Given the description of an element on the screen output the (x, y) to click on. 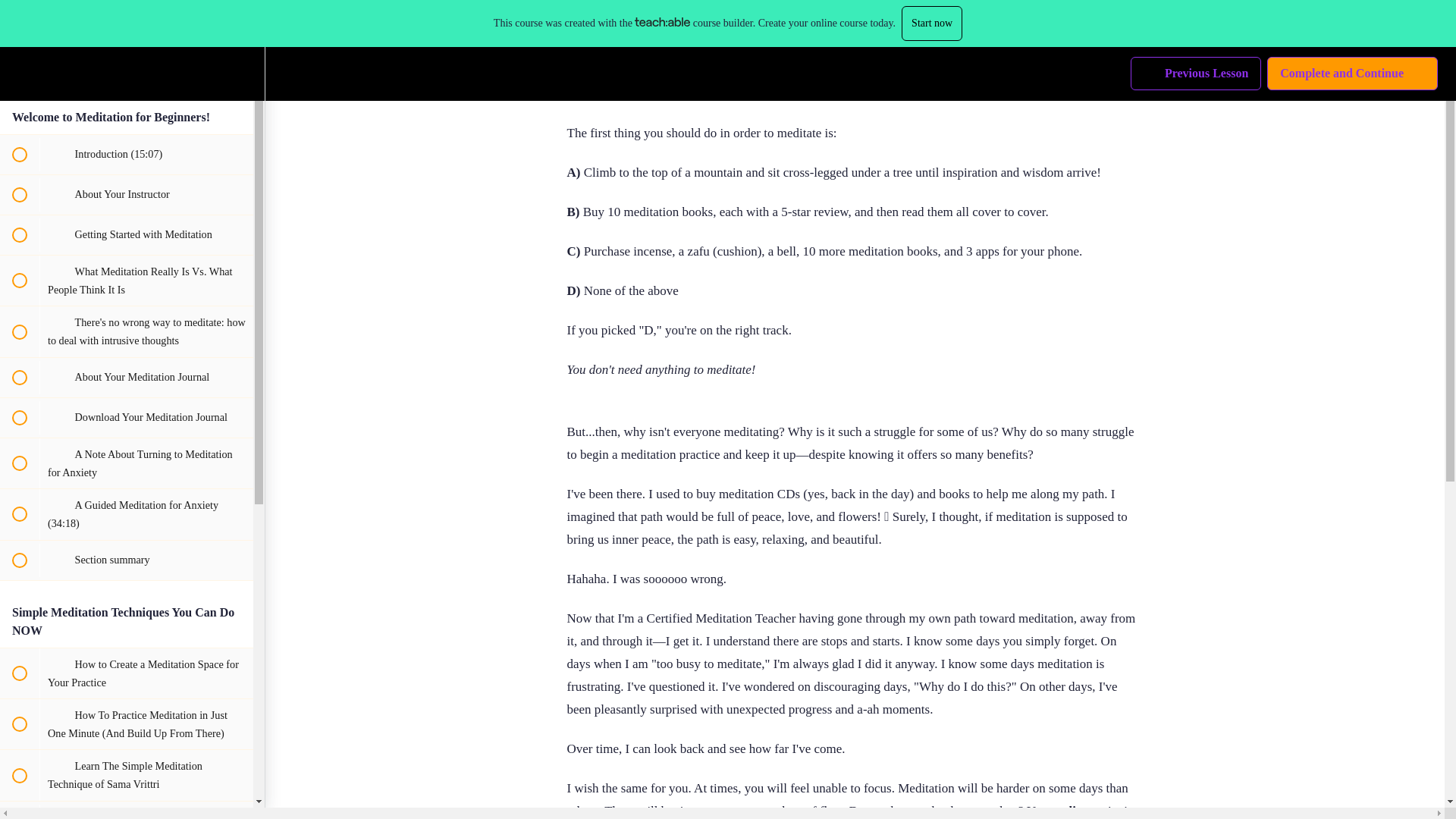
  How to Create a Meditation Space for Your Practice (126, 673)
  A Note About Turning to Meditation for Anxiety (126, 463)
Back to course curriculum (17, 26)
  What Meditation Really Is Vs. What People Think It Is (126, 280)
  About Your Meditation Journal (126, 377)
  Previous Lesson (1195, 26)
  Learn The Simple Meditation Technique of Sama Vrittri (126, 775)
  Section summary (126, 559)
